Given the description of an element on the screen output the (x, y) to click on. 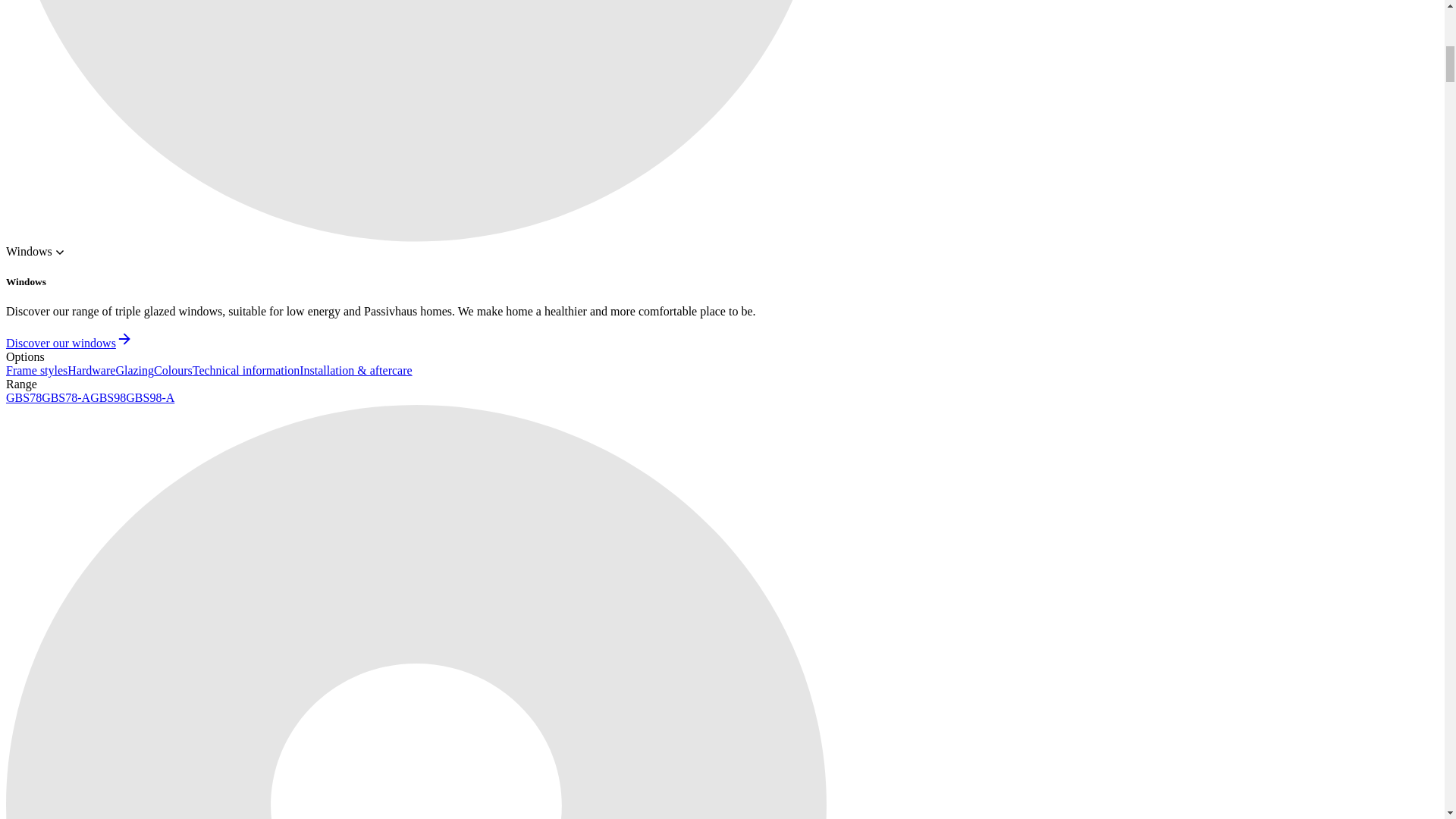
Hardware (90, 369)
Discover our windows (68, 342)
GBS78-A (66, 397)
Technical information (245, 369)
Frame styles (35, 369)
Colours (173, 369)
Glazing (134, 369)
GBS78 (23, 397)
GBS98 (107, 397)
GBS98-A (149, 397)
